Given the description of an element on the screen output the (x, y) to click on. 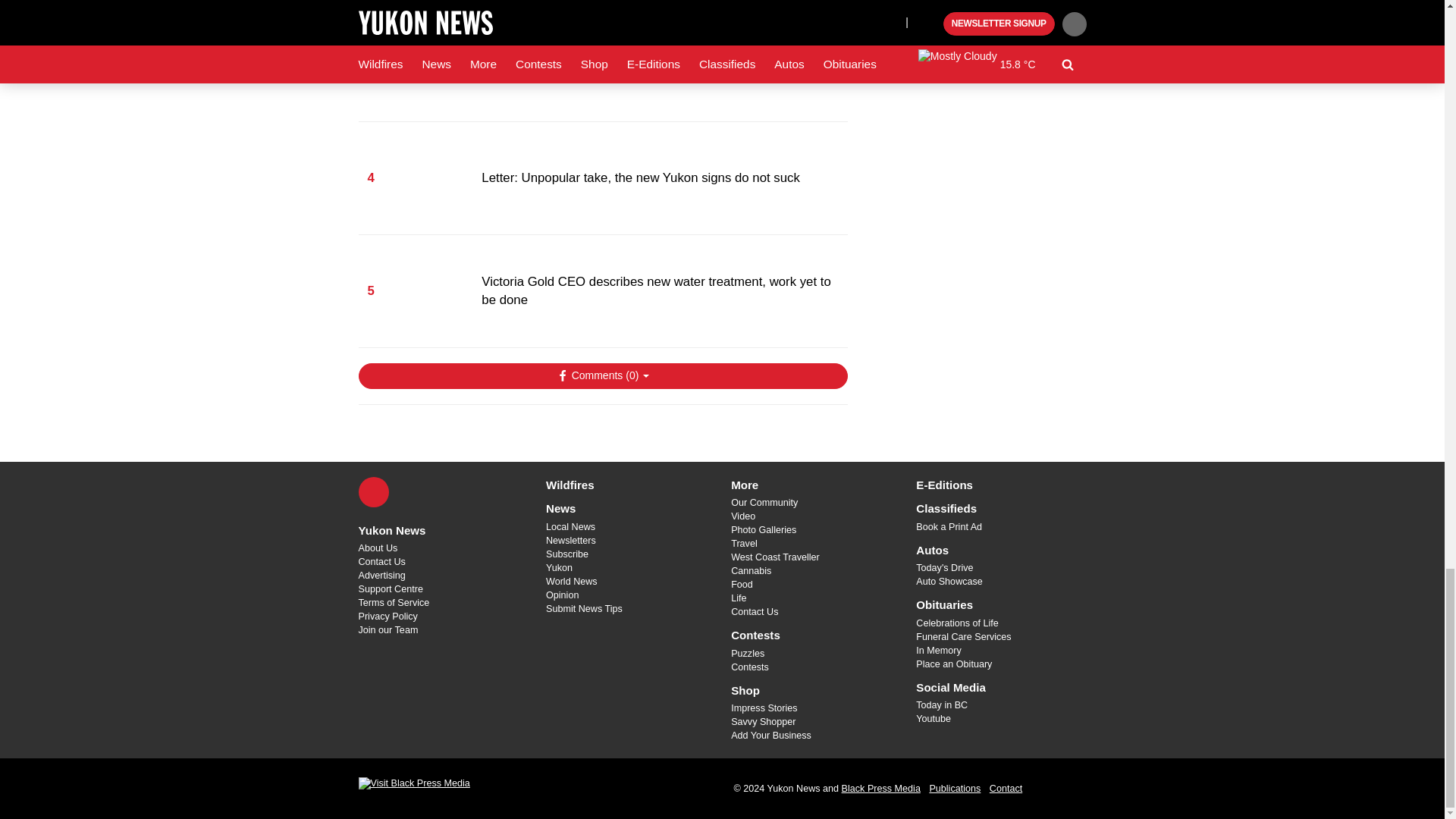
X (373, 491)
Show Comments (602, 376)
